Given the description of an element on the screen output the (x, y) to click on. 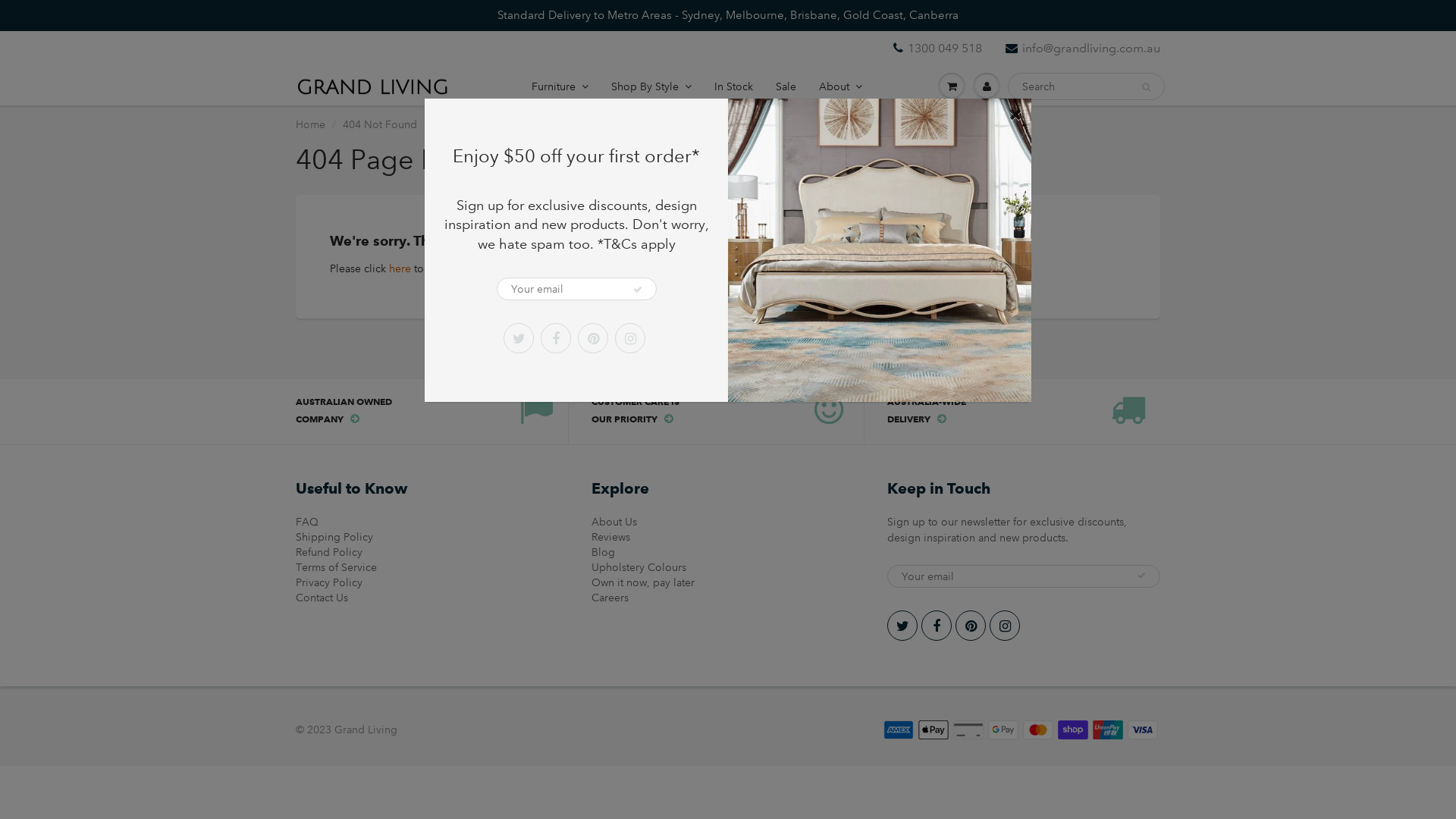
Facebook Element type: hover (936, 625)
Grand Living Element type: text (365, 729)
Twitter Element type: hover (902, 625)
Own it now, pay later Element type: text (642, 582)
Home Element type: text (310, 124)
Subscribe Element type: text (637, 289)
Upholstery Colours Element type: text (638, 567)
Careers Element type: text (609, 597)
AUSTRALIA-WIDE DELIVERY Element type: text (1000, 411)
In Stock Element type: text (733, 86)
Facebook Element type: hover (555, 338)
FAQ Element type: text (306, 521)
Subscribe Element type: text (1140, 575)
Reviews Element type: text (610, 536)
Twitter Element type: hover (518, 338)
About Us Element type: text (614, 521)
AUSTRALIAN OWNED COMPANY Element type: text (408, 411)
here Element type: text (400, 268)
Instagram Element type: hover (630, 338)
Contact Us Element type: text (321, 597)
Sale Element type: text (785, 86)
info@grandliving.com.au Element type: text (1082, 48)
Pinterest Element type: hover (592, 338)
Instagram Element type: hover (1004, 625)
CUSTOMER CARE IS OUR PRIORITY Element type: text (704, 411)
Pinterest Element type: hover (970, 625)
Privacy Policy Element type: text (328, 582)
Search Element type: text (1146, 87)
Furniture Element type: text (559, 86)
Shipping Policy Element type: text (334, 536)
1300 049 518 Element type: text (937, 48)
Terms of Service Element type: text (335, 567)
Shop By Style Element type: text (650, 86)
Blog Element type: text (603, 551)
Refund Policy Element type: text (328, 551)
About Element type: text (840, 86)
